Given the description of an element on the screen output the (x, y) to click on. 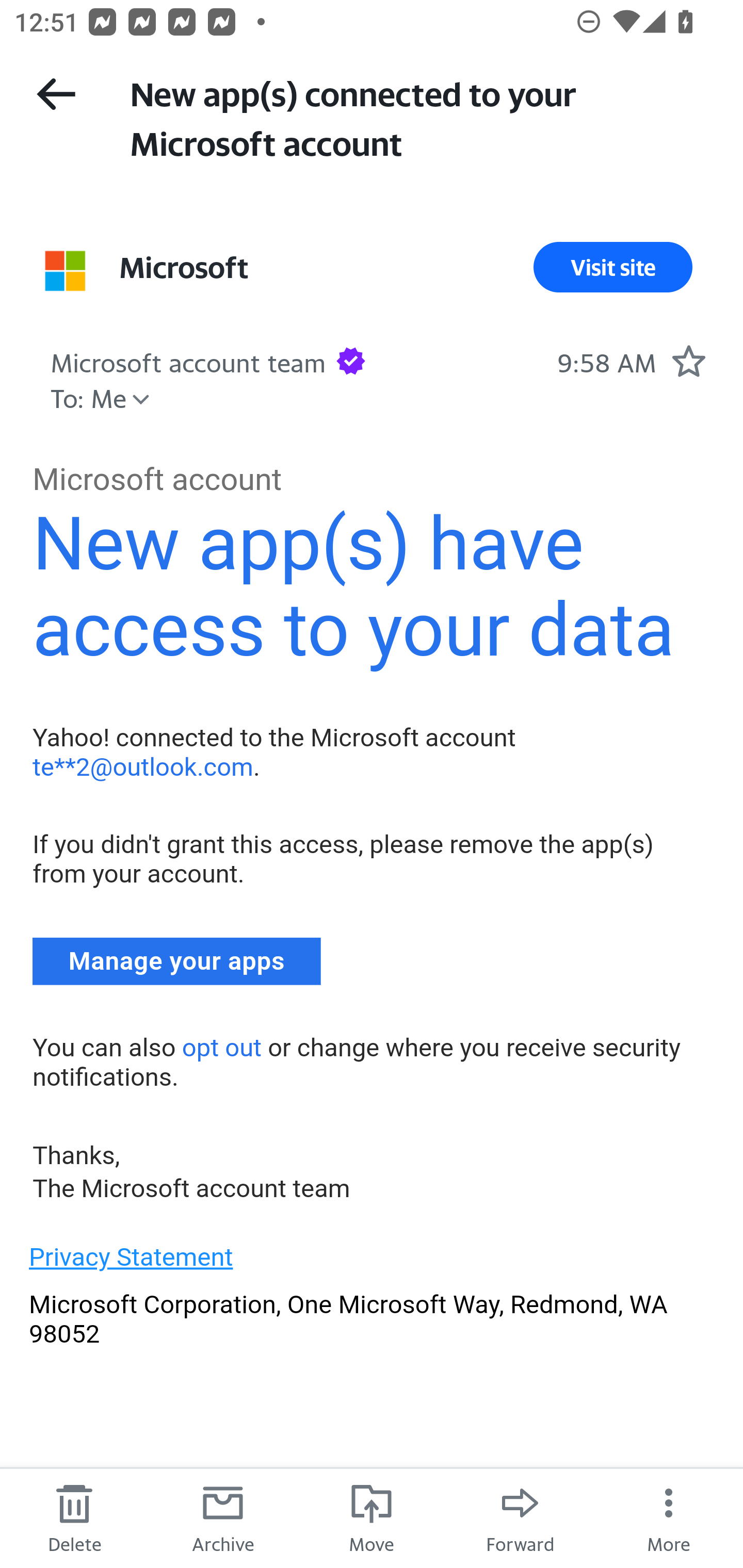
Back (55, 93)
New app(s) connected to your Microsoft account (418, 116)
View all messages from sender (64, 270)
Visit site Visit Site Link (612, 267)
Microsoft Sender Microsoft (183, 266)
Mark as starred. (688, 361)
te**2@outlook.com (142, 766)
Manage your apps (177, 960)
opt out (220, 1047)
Privacy Statement (131, 1257)
Delete (74, 1517)
Archive (222, 1517)
Move (371, 1517)
Forward (519, 1517)
More (668, 1517)
